Given the description of an element on the screen output the (x, y) to click on. 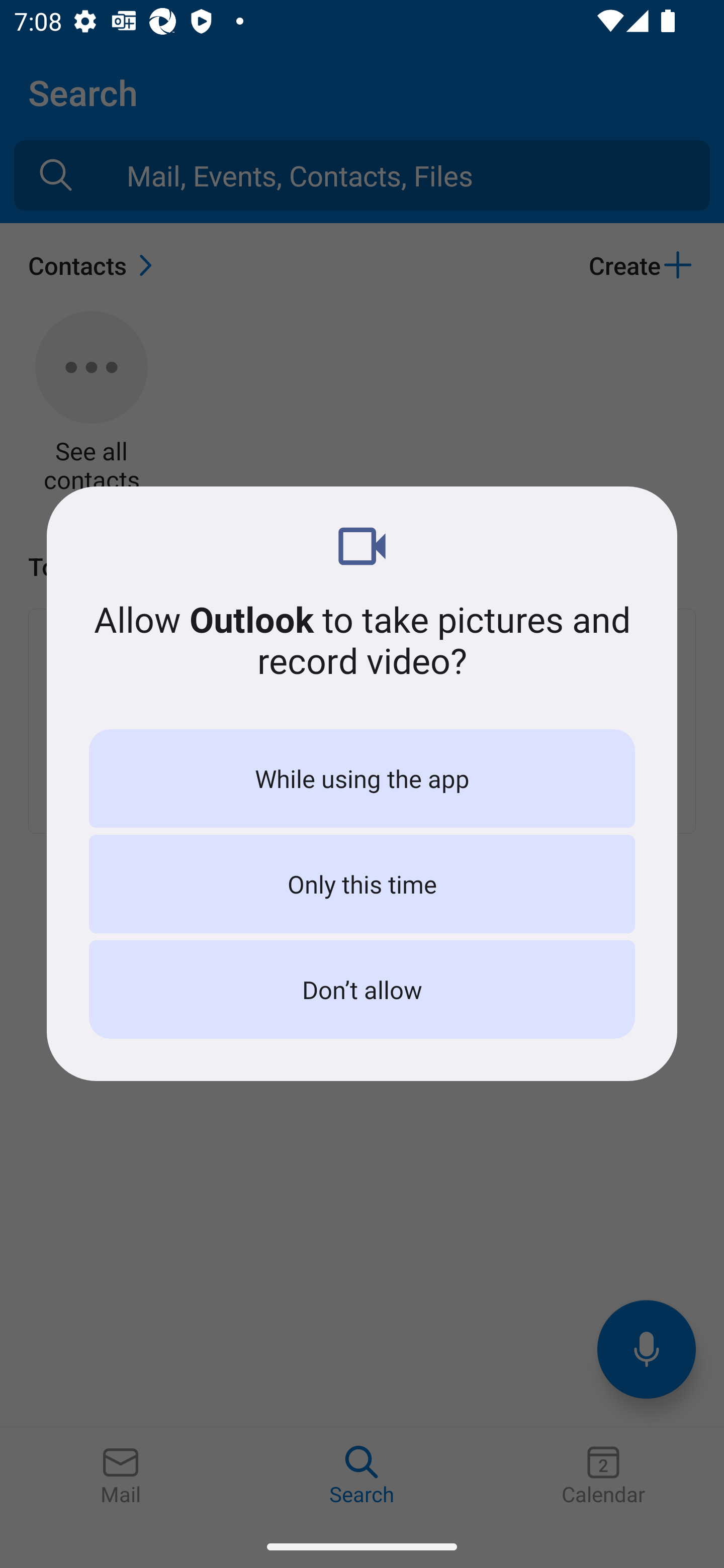
While using the app (361, 778)
Only this time (361, 883)
Don’t allow (361, 989)
